Given the description of an element on the screen output the (x, y) to click on. 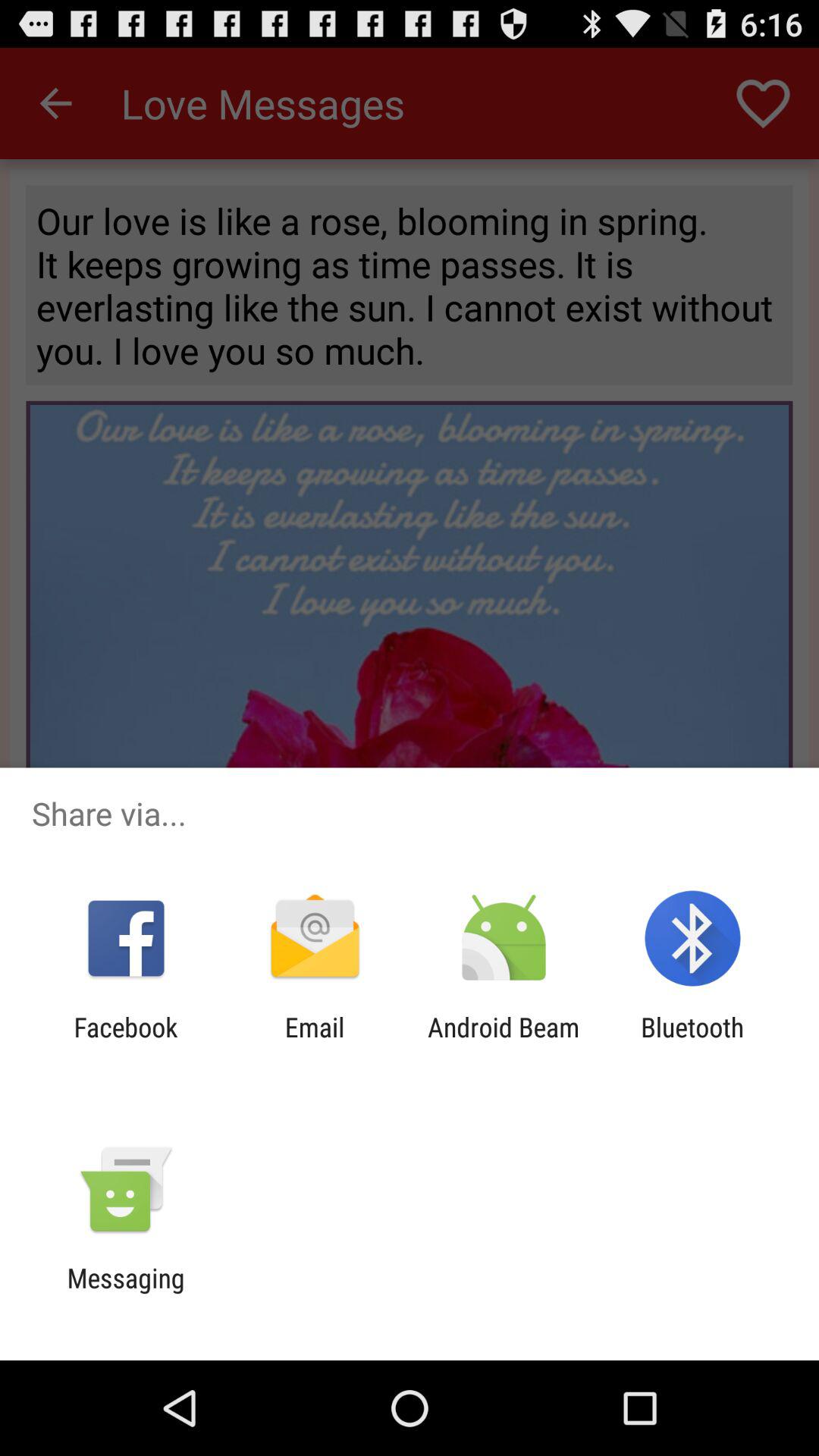
click the app next to the facebook item (314, 1042)
